Given the description of an element on the screen output the (x, y) to click on. 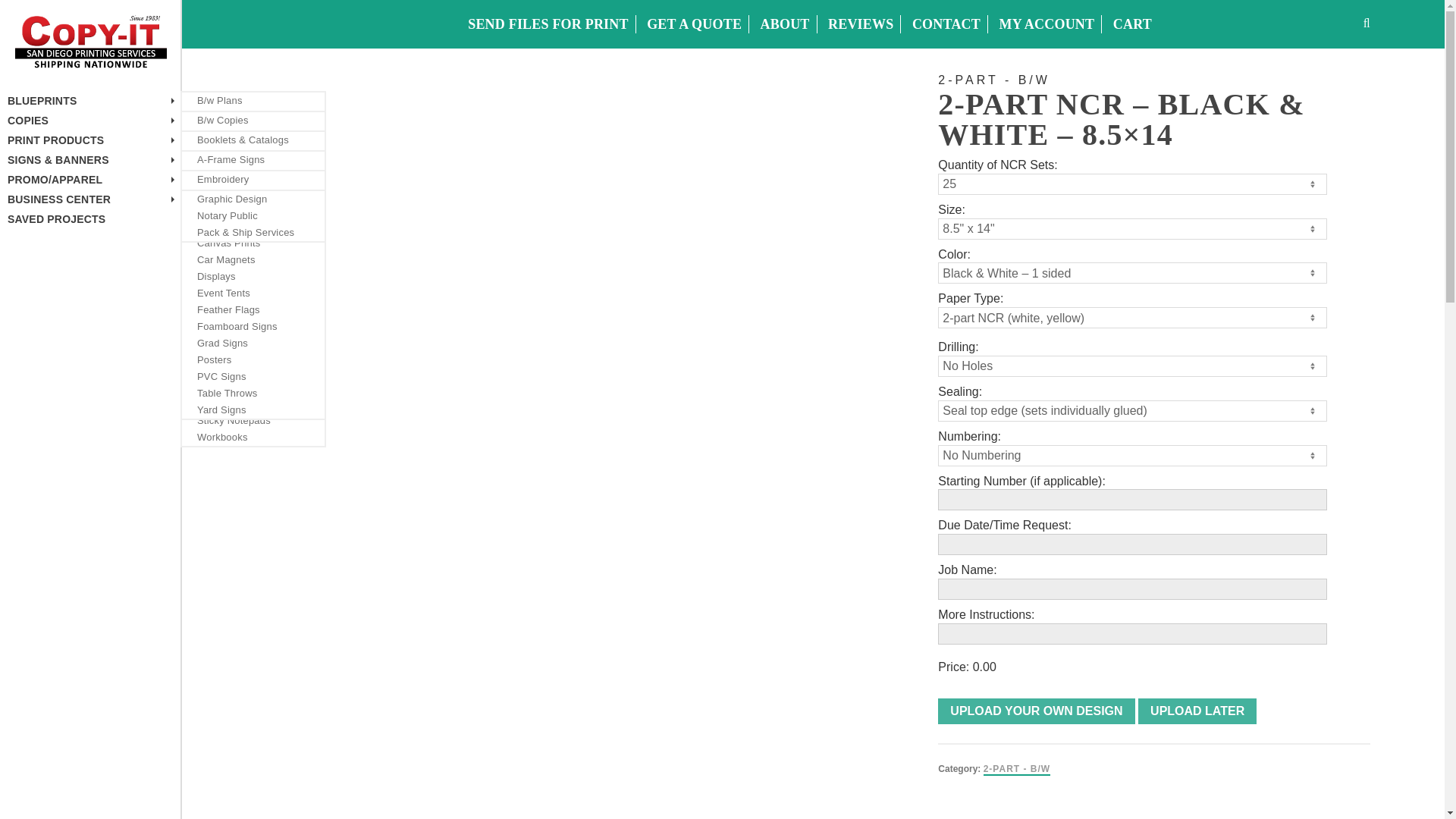
Sticky Notepads (253, 420)
Notepads (253, 320)
Full Color Copies (253, 136)
Grad Signs (253, 343)
Envelopes (253, 207)
Workbooks (253, 437)
Presentation Folders (253, 353)
Aluminum Signs (253, 176)
Stickers (253, 403)
Banners (253, 209)
Backdrop Stands (253, 193)
Door Hangers (253, 190)
Feather Flags (253, 310)
Banner Stands (253, 226)
Posters (253, 360)
